Given the description of an element on the screen output the (x, y) to click on. 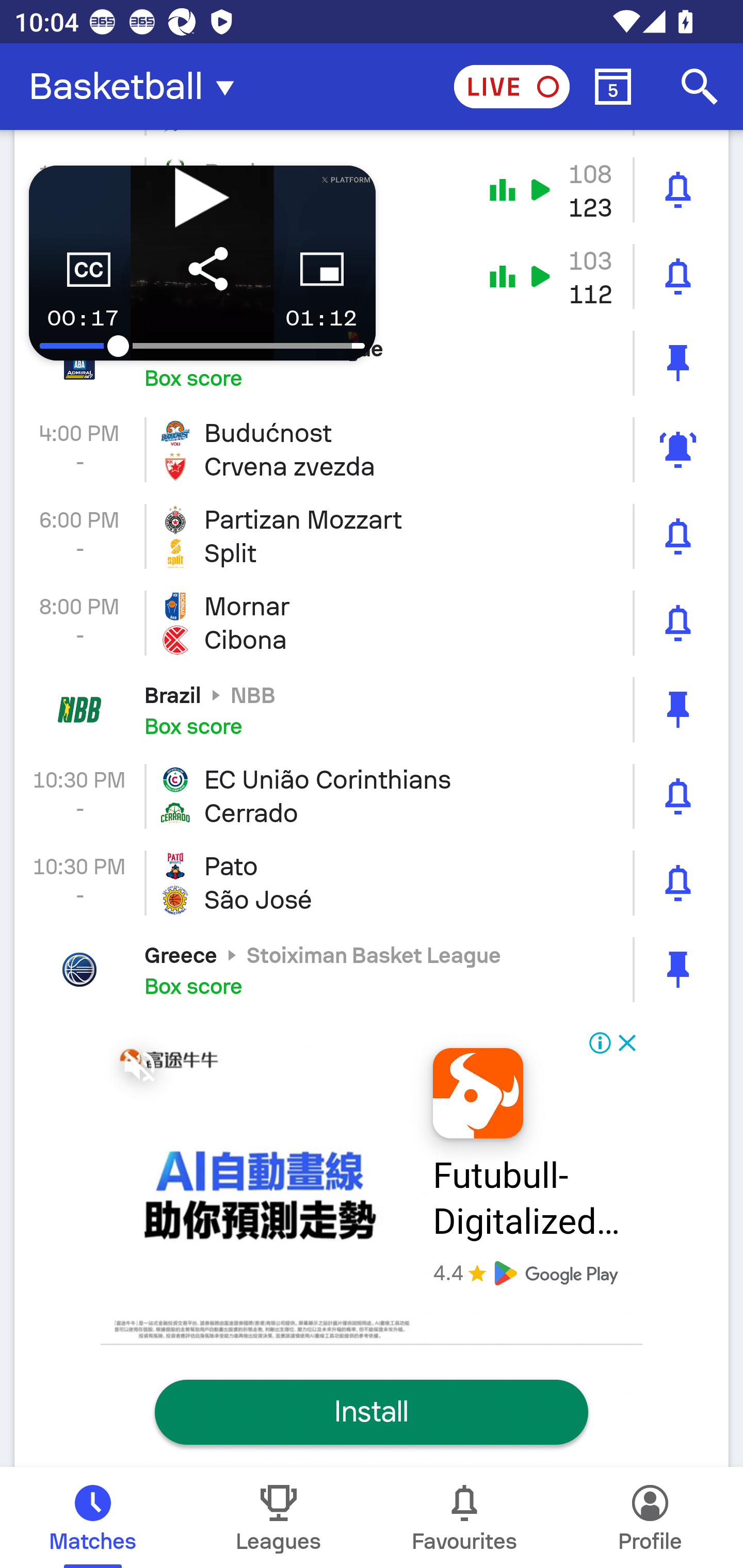
Basketball (137, 86)
Calendar (612, 86)
Search (699, 86)
4:00 PM - Budućnost Crvena zvezda (371, 449)
6:00 PM - Partizan Mozzart Split (371, 536)
8:00 PM - Mornar Cibona (371, 623)
Brazil NBB Box score (371, 709)
10:30 PM - EC União Corinthians Cerrado (371, 796)
10:30 PM - Pato São José (371, 883)
Greece Stoiximan Basket League Box score (371, 969)
Futubull-
Digitalized… 4.4 Install Install (371, 1239)
Install (371, 1411)
Leagues (278, 1517)
Favourites (464, 1517)
Profile (650, 1517)
